Given the description of an element on the screen output the (x, y) to click on. 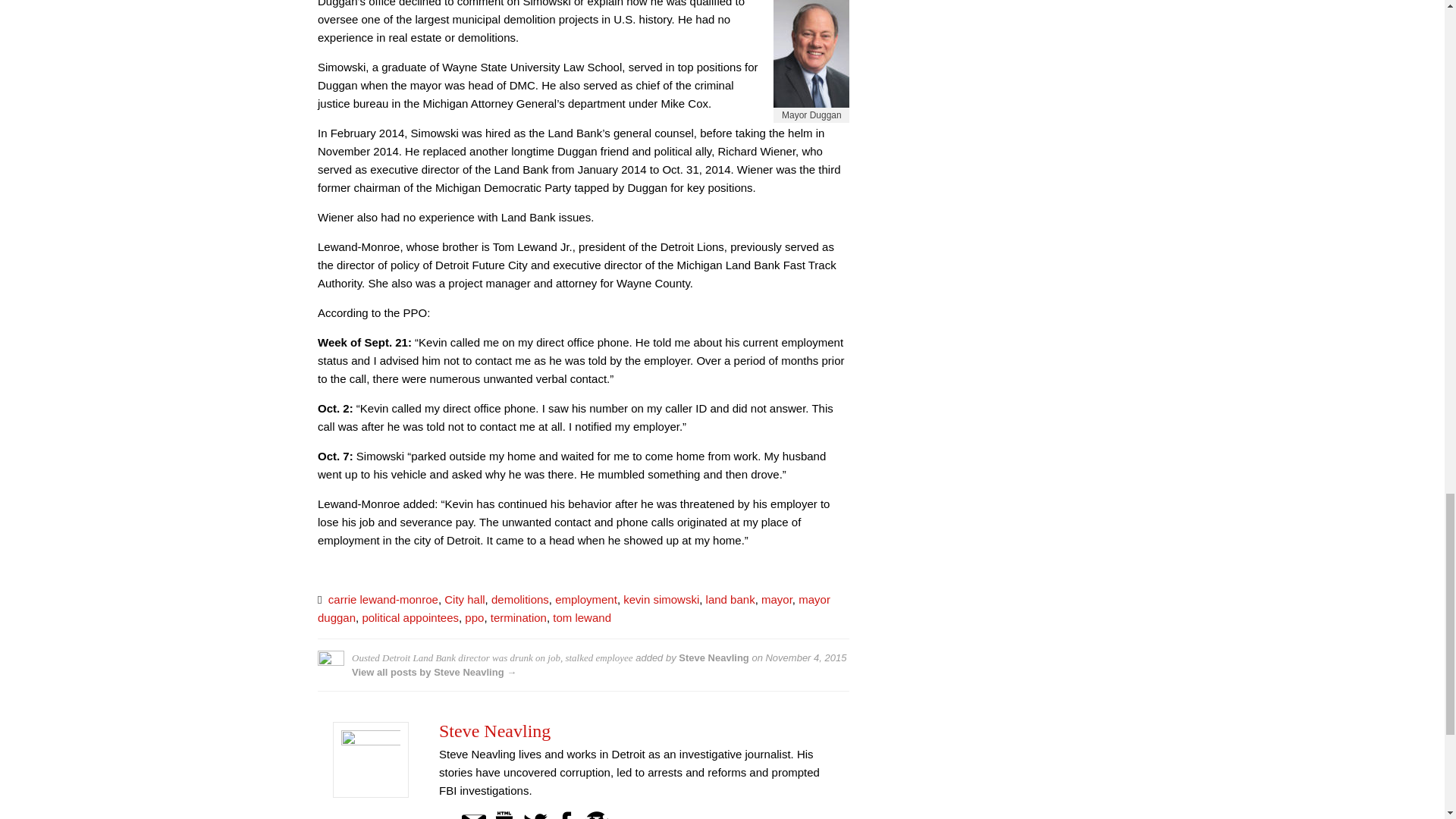
Send Steve Neavling Mail (473, 817)
demolitions (520, 599)
Steve Neavling On The Web (504, 817)
carrie lewand-monroe (383, 599)
Steve Neavling (494, 731)
City hall (464, 599)
Steve Neavling On Twitter (534, 817)
